Given the description of an element on the screen output the (x, y) to click on. 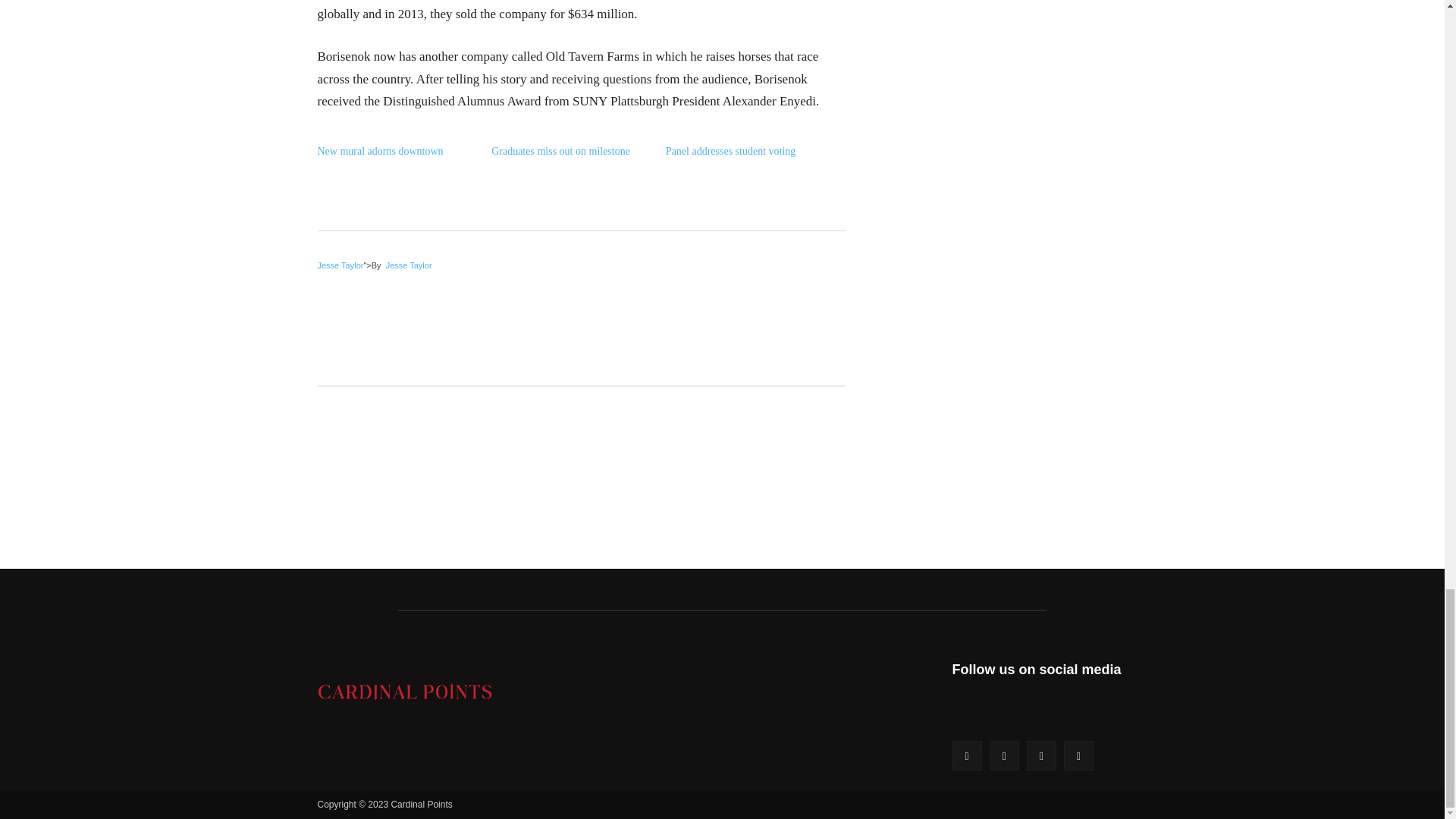
Panel addresses student voting (729, 151)
New mural adorns downtown (379, 151)
Graduates miss out on milestone (561, 151)
